Given the description of an element on the screen output the (x, y) to click on. 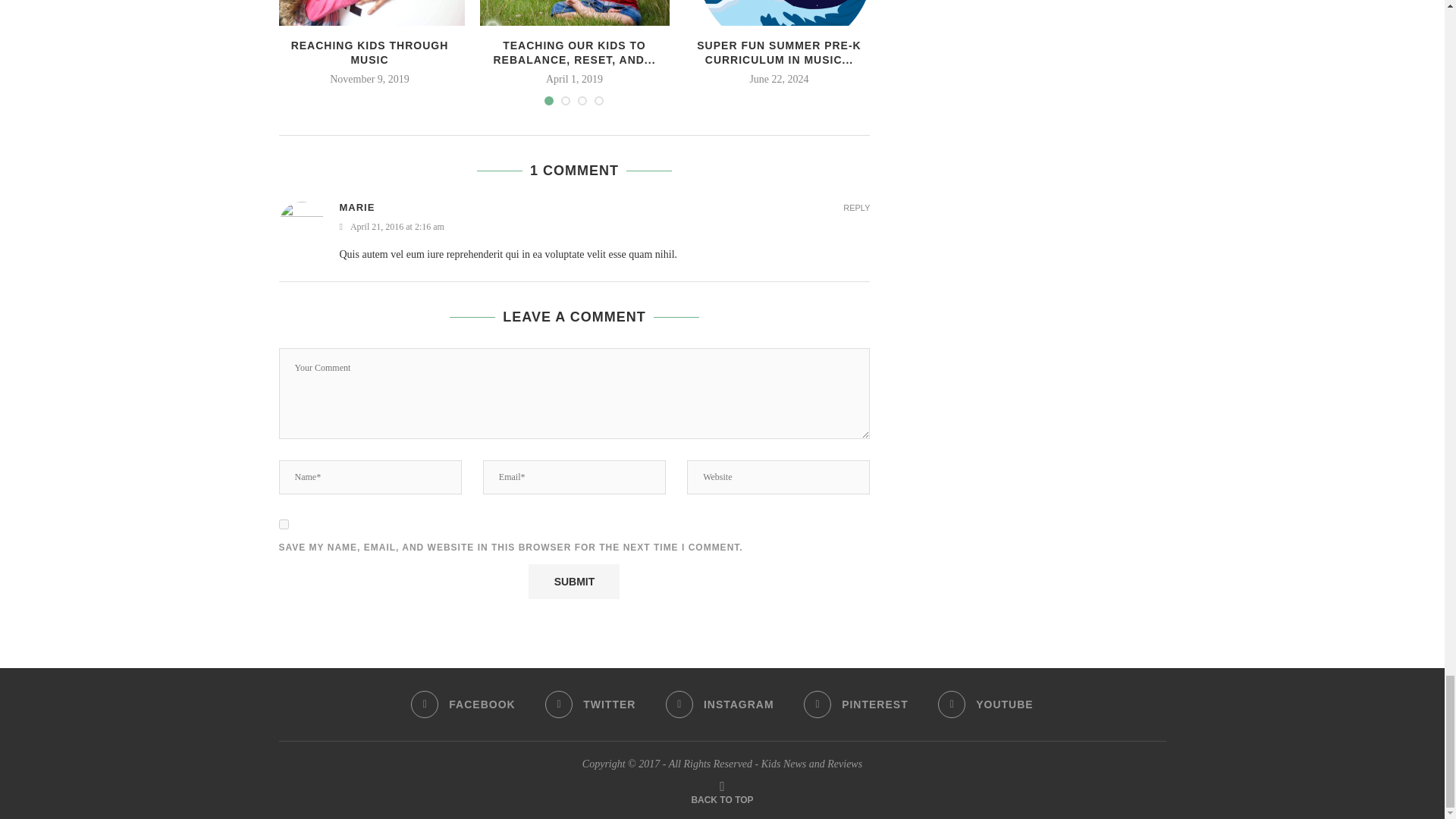
yes (283, 524)
REACHING KIDS THROUGH MUSIC (369, 12)
Submit (574, 581)
